Given the description of an element on the screen output the (x, y) to click on. 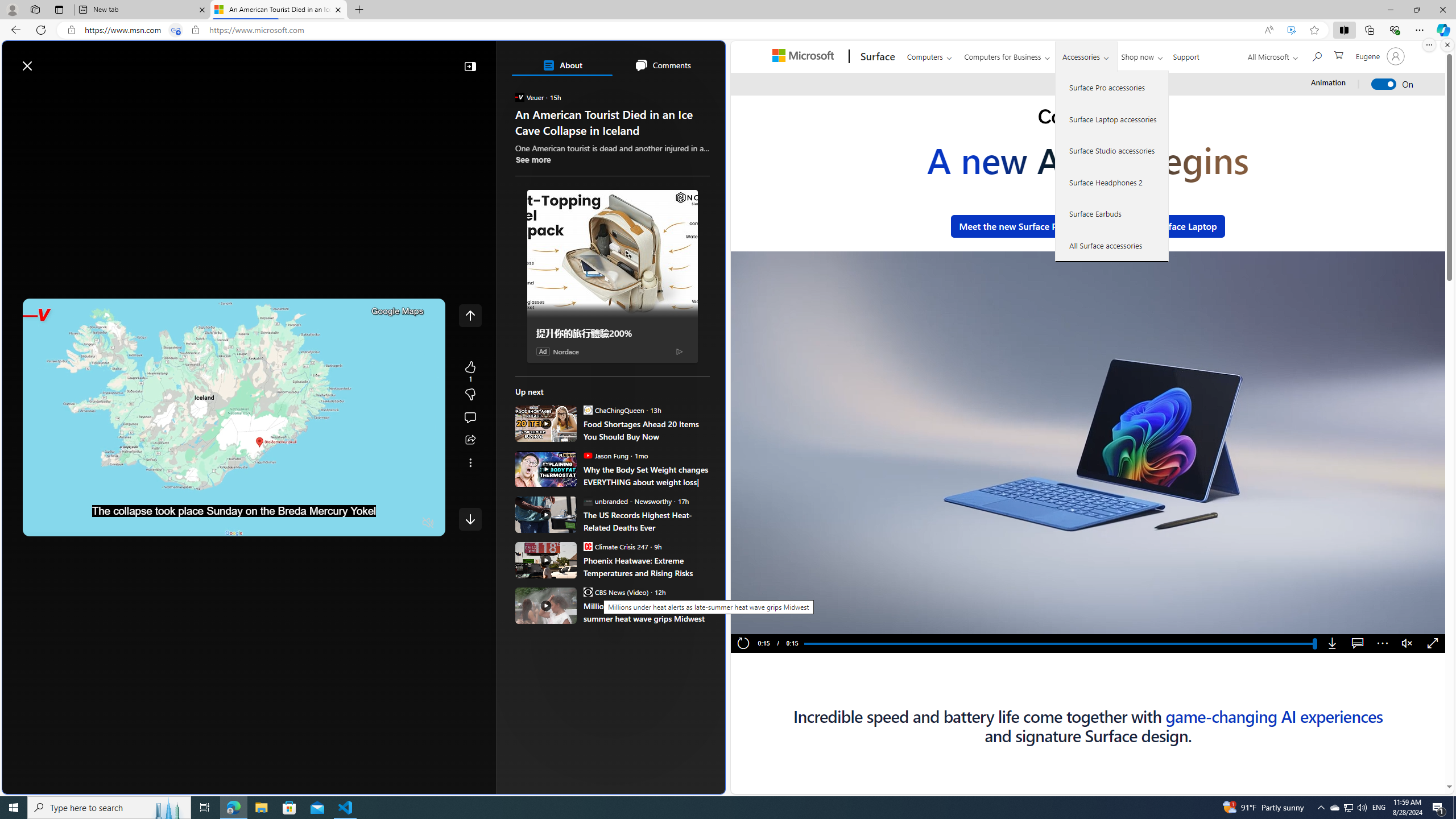
CBS News (Video) CBS News (Video) (615, 591)
Climate Crisis 247 (587, 546)
Surface Headphones 2 (1112, 182)
Collapse (469, 65)
Surface Laptop accessories (1112, 119)
Seek Forward (85, 523)
Web search (161, 60)
Comments (662, 64)
